Given the description of an element on the screen output the (x, y) to click on. 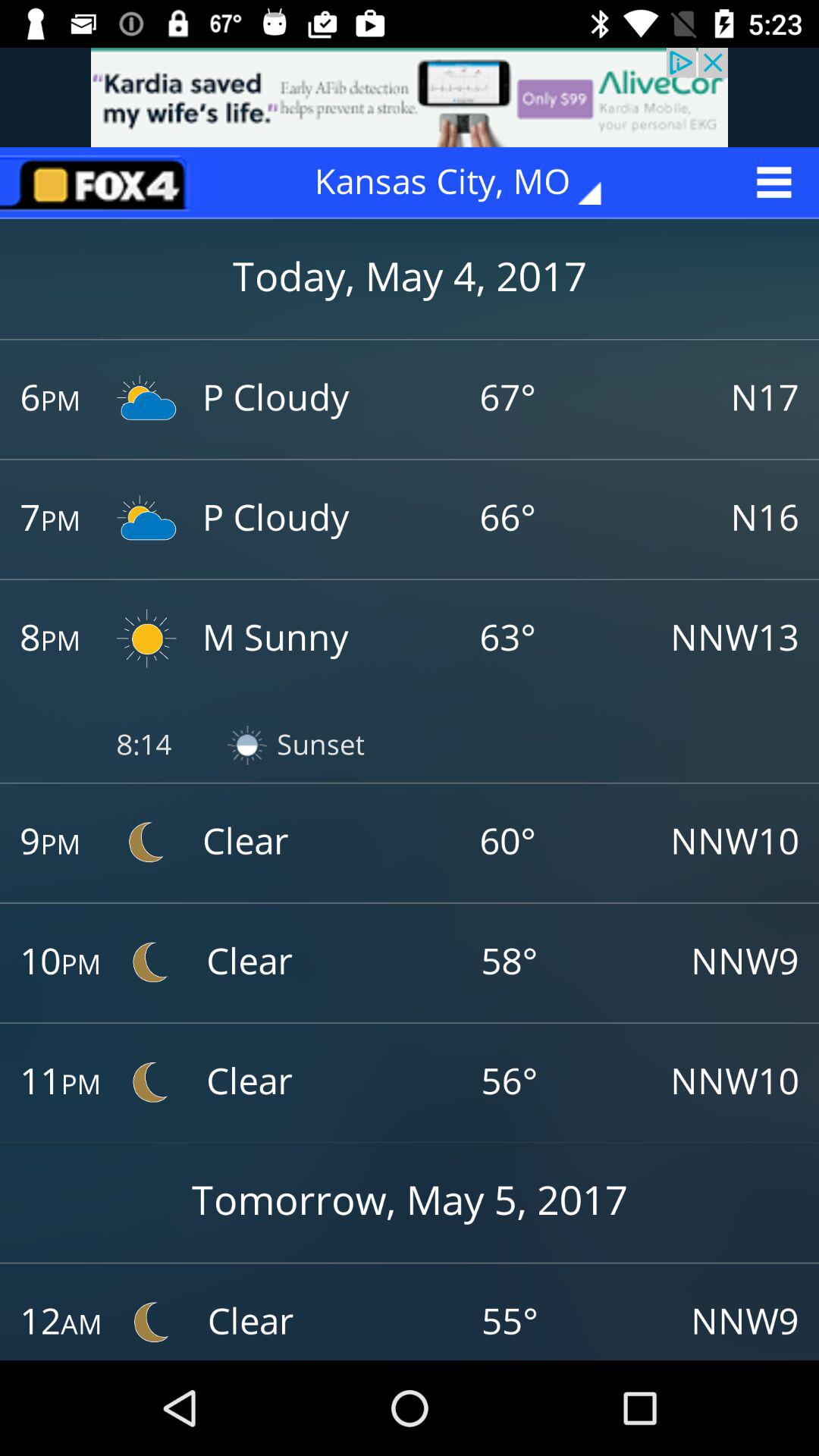
main page (99, 182)
